Given the description of an element on the screen output the (x, y) to click on. 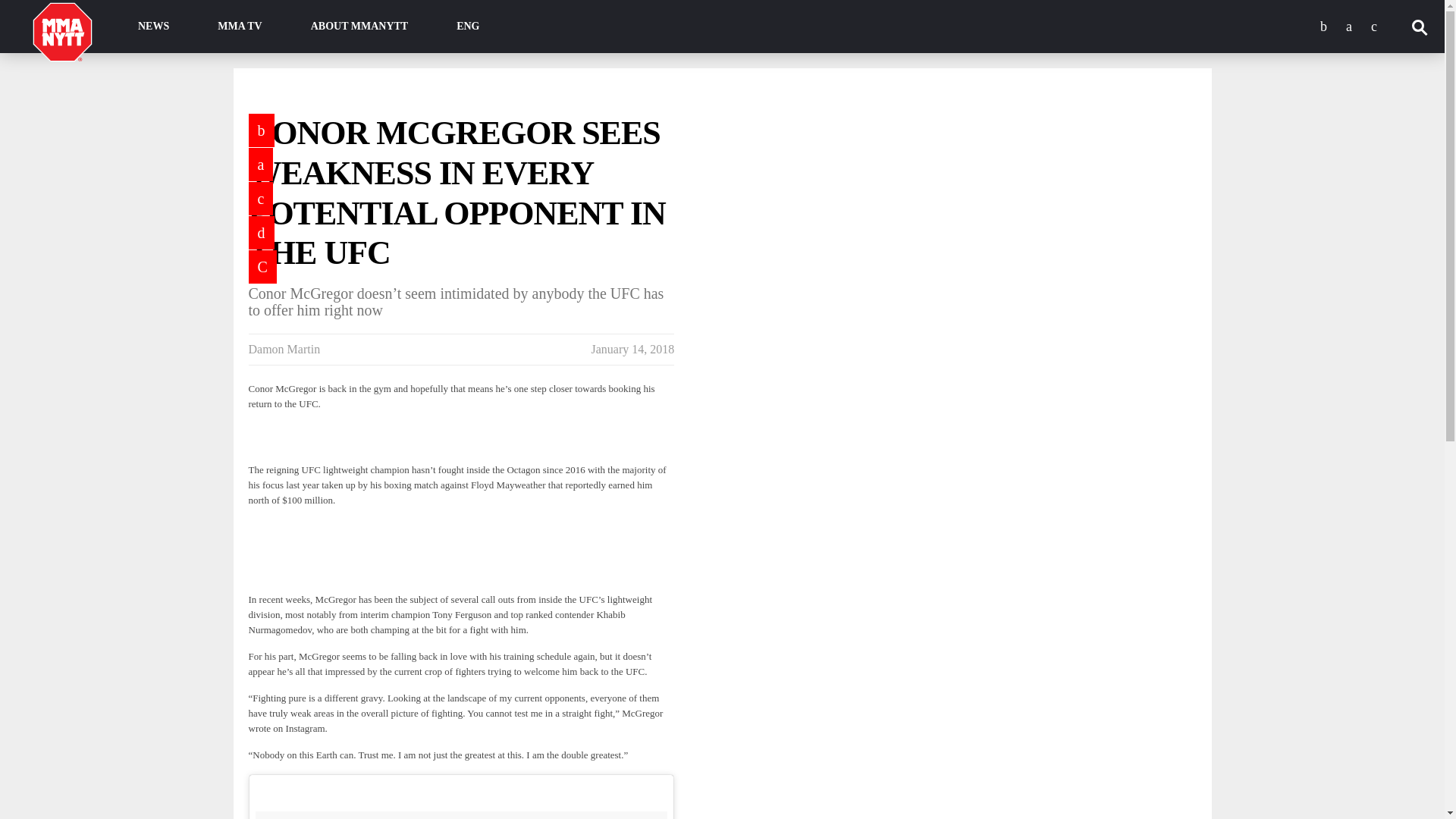
ABOUT MMANYTT (359, 26)
ENG (467, 26)
News (153, 26)
Posts by Damon Martin (284, 349)
NEWS (153, 26)
Damon Martin (284, 349)
MMA TV (239, 26)
MMA TV (239, 26)
ENG (467, 26)
About MMAnytt (359, 26)
